Given the description of an element on the screen output the (x, y) to click on. 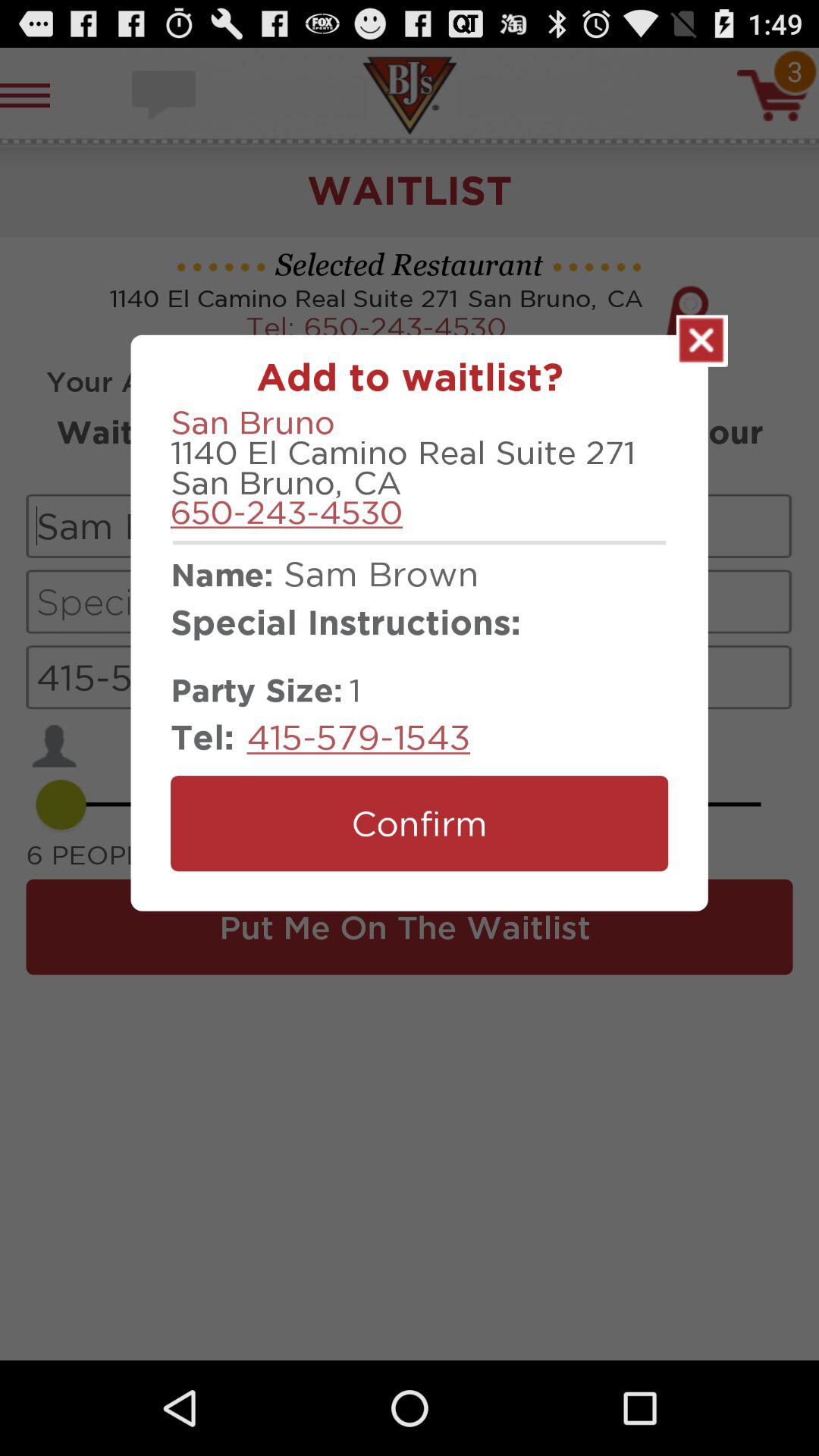
jump to 415-579-1543 item (358, 736)
